Given the description of an element on the screen output the (x, y) to click on. 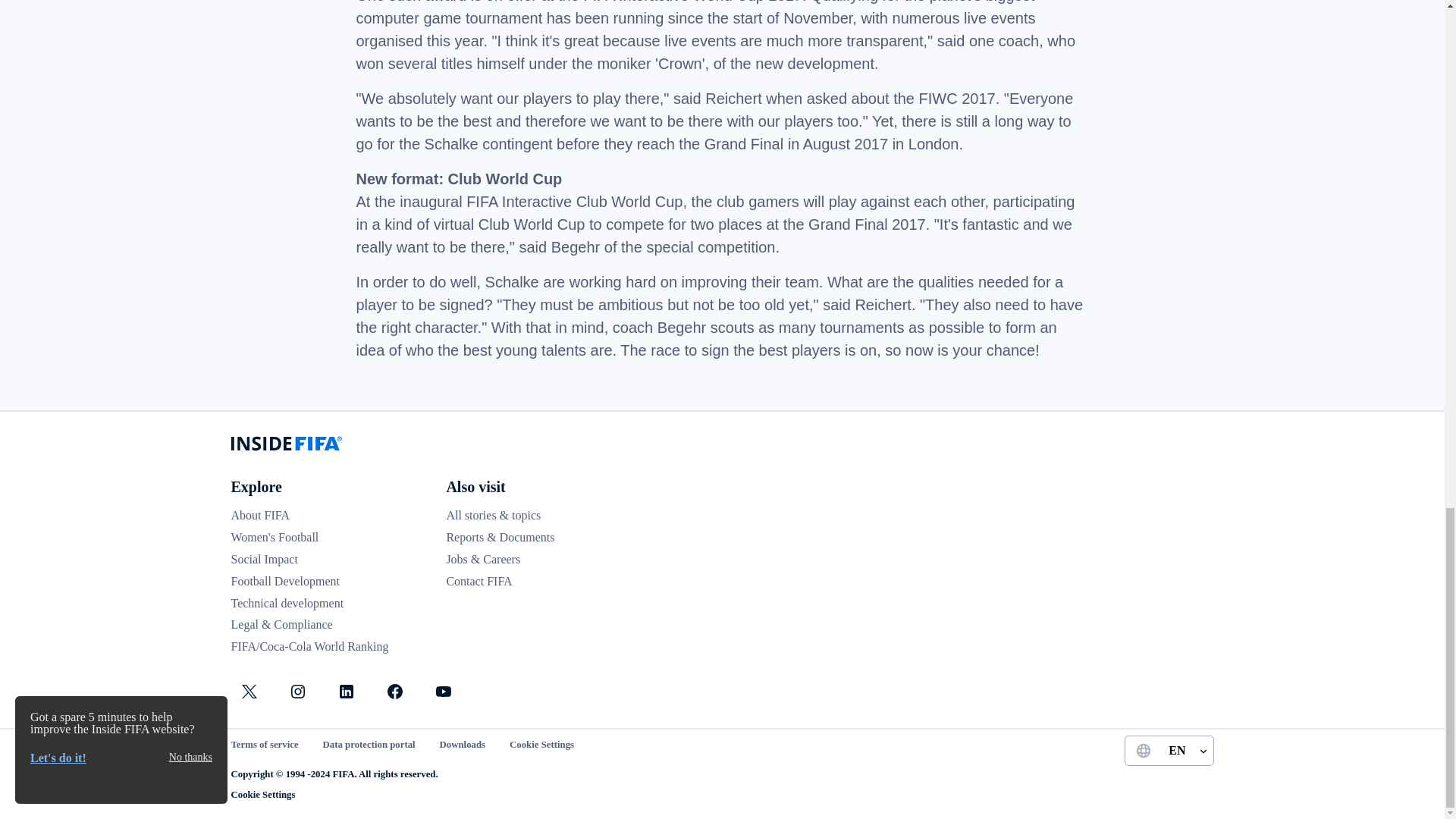
About FIFA (259, 514)
Contact FIFA (478, 581)
Downloads (461, 744)
Technical development (286, 603)
Terms of service (264, 744)
Cookie Settings (541, 745)
Social Impact (263, 558)
EN (1168, 750)
Football Development (284, 581)
Data protection portal (368, 744)
Women's Football (274, 536)
Cookie Settings (262, 794)
